Given the description of an element on the screen output the (x, y) to click on. 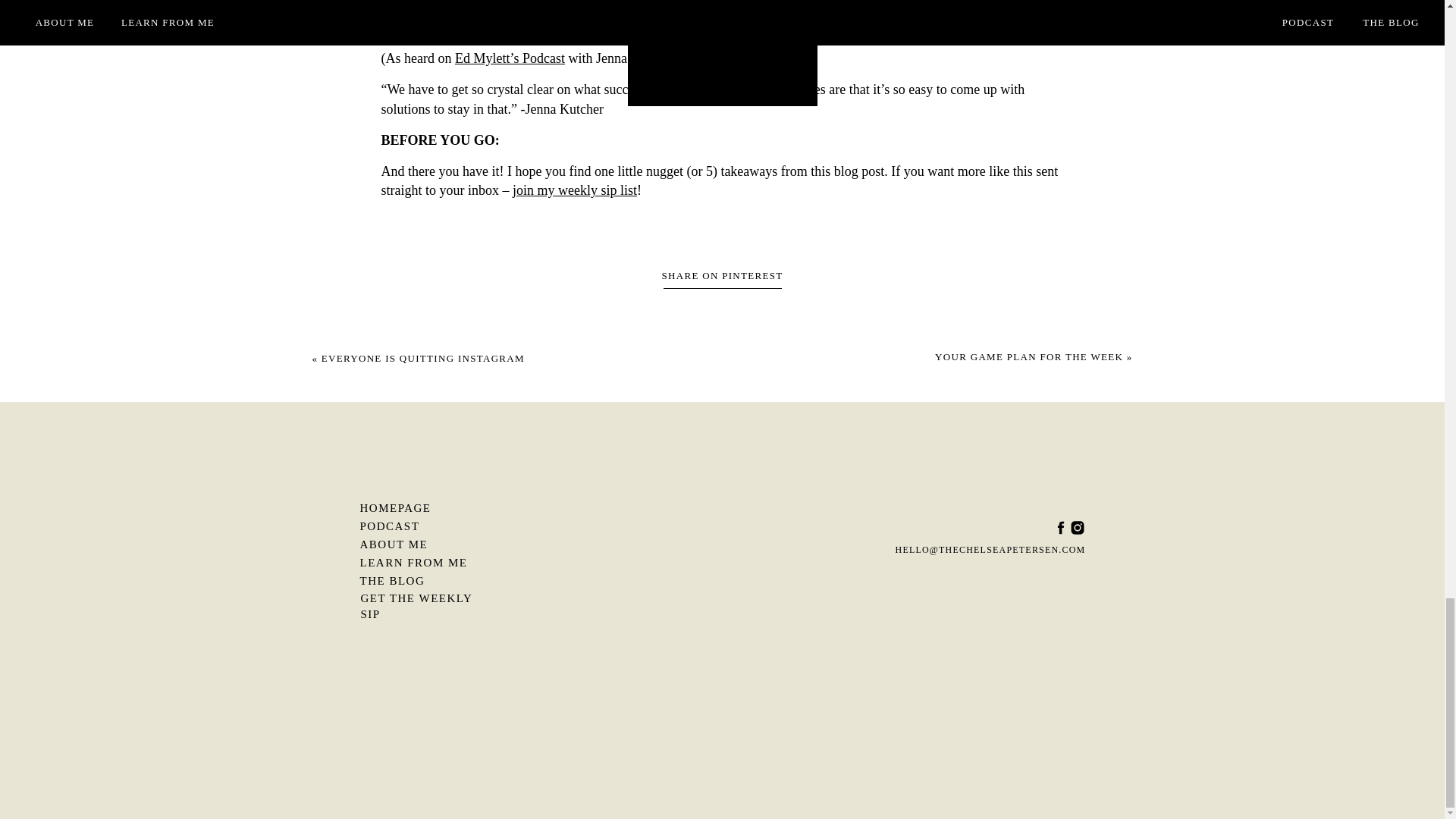
HOMEPAGE (423, 507)
LEARN FROM ME (423, 561)
SHARE ON PINTEREST (721, 275)
GET THE WEEKLY SIP (425, 597)
EVERYONE IS QUITTING INSTAGRAM (422, 357)
join my weekly sip list (574, 190)
ABOUT ME (423, 543)
YOUR GAME PLAN FOR THE WEEK (1028, 356)
PODCAST (423, 525)
THE BLOG (423, 580)
